Given the description of an element on the screen output the (x, y) to click on. 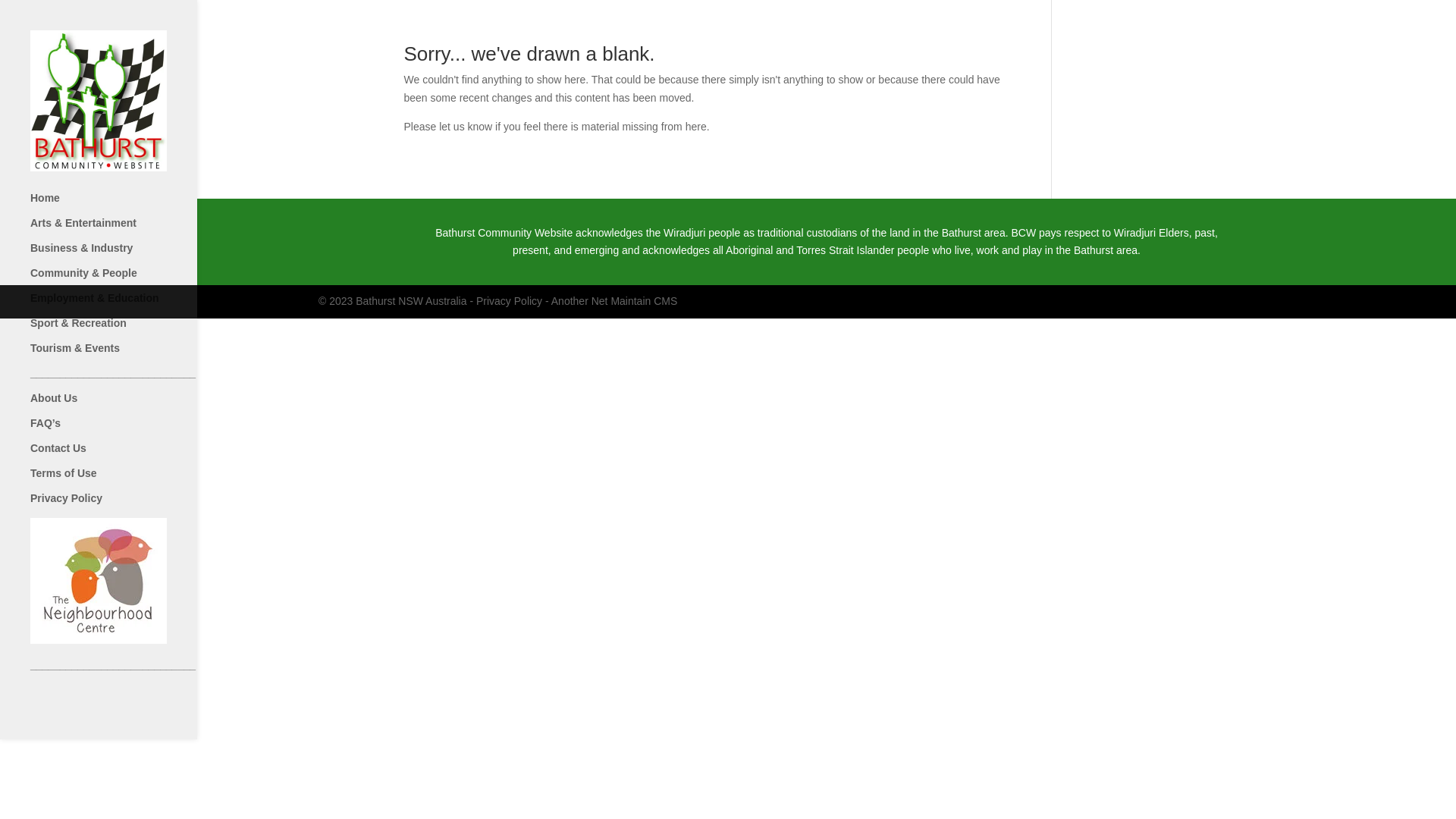
Community & People Element type: text (127, 278)
Employment & Education Element type: text (127, 304)
Net Maintain Element type: text (621, 300)
Home Element type: text (127, 204)
Contact Us Element type: text (127, 454)
Privacy Policy Element type: text (127, 504)
____________________________ Element type: text (127, 671)
____________________________ Element type: text (127, 379)
Business & Industry Element type: text (127, 254)
Arts & Entertainment Element type: text (127, 228)
About Us Element type: text (127, 404)
Terms of Use Element type: text (127, 479)
Privacy Policy Element type: text (509, 300)
Tourism & Events Element type: text (127, 354)
Sport & Recreation Element type: text (127, 329)
